Given the description of an element on the screen output the (x, y) to click on. 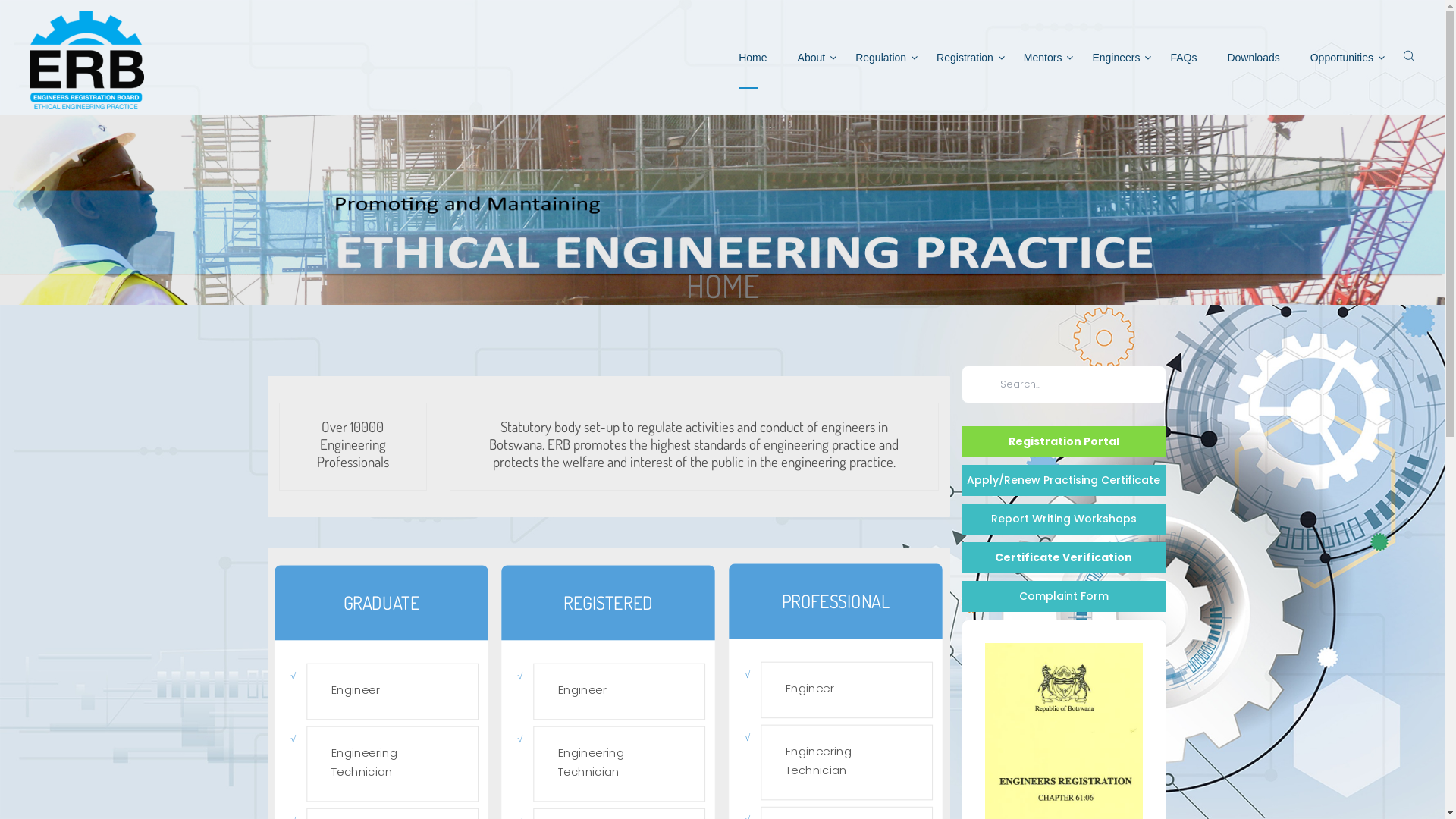
Certificate Verification Element type: text (1063, 557)
Engineers Element type: text (1115, 57)
Complaint Form Element type: text (1063, 595)
Opportunities Element type: text (1341, 57)
Downloads Element type: text (1252, 57)
Apply/Renew Practising Certificate Element type: text (1063, 479)
Regulation Element type: text (880, 57)
Over 10000 Engineering Professionals Element type: text (352, 443)
Registration Element type: text (964, 57)
Report Writing Workshops Element type: text (1063, 518)
Search Element type: text (980, 384)
Home Element type: text (752, 57)
FAQs Element type: text (1182, 57)
Registration Portal Element type: text (1063, 441)
Mentors Element type: text (1042, 57)
About Element type: text (811, 57)
